Given the description of an element on the screen output the (x, y) to click on. 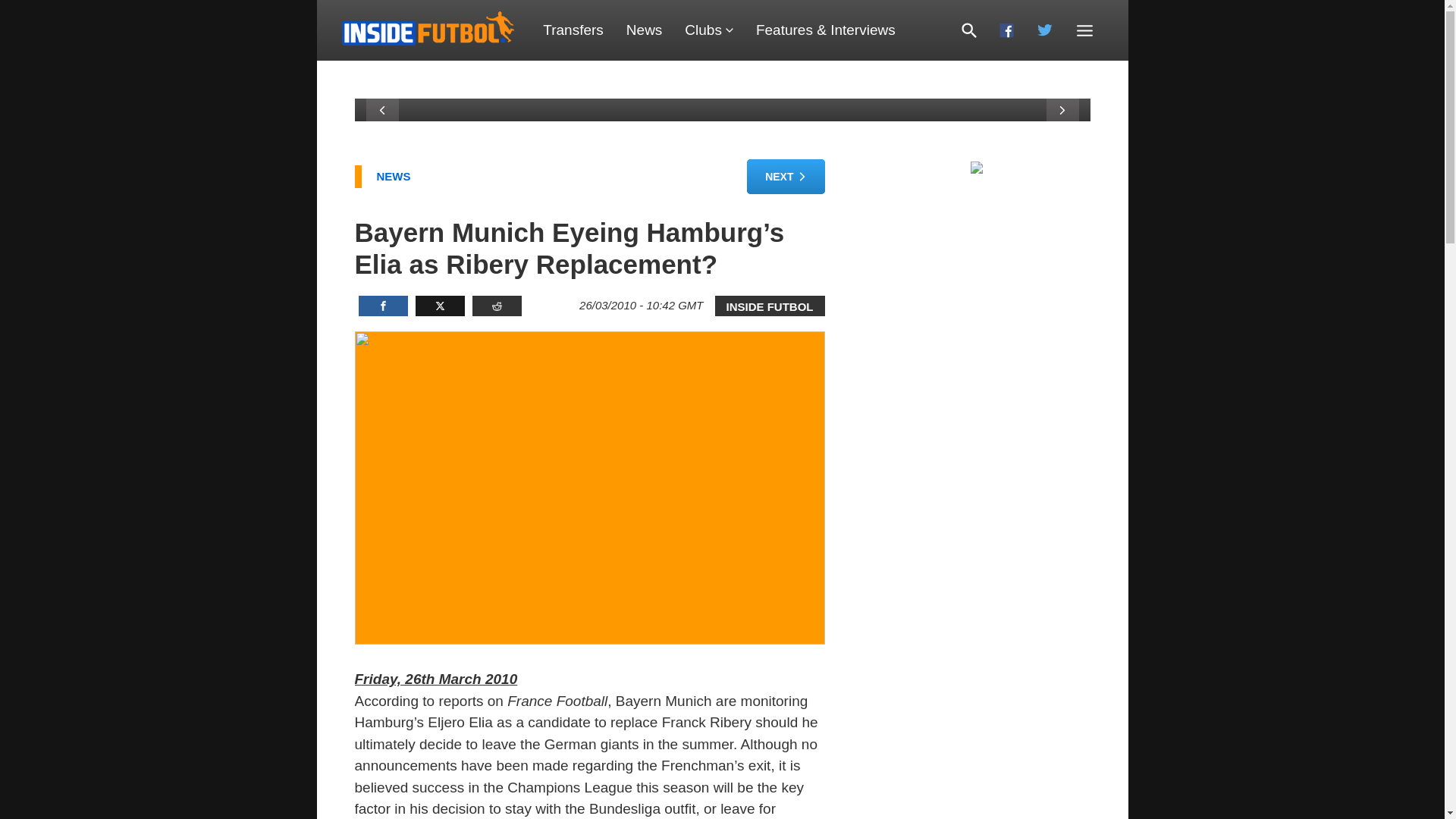
News (644, 30)
Clubs (708, 30)
Transfers (572, 30)
